Given the description of an element on the screen output the (x, y) to click on. 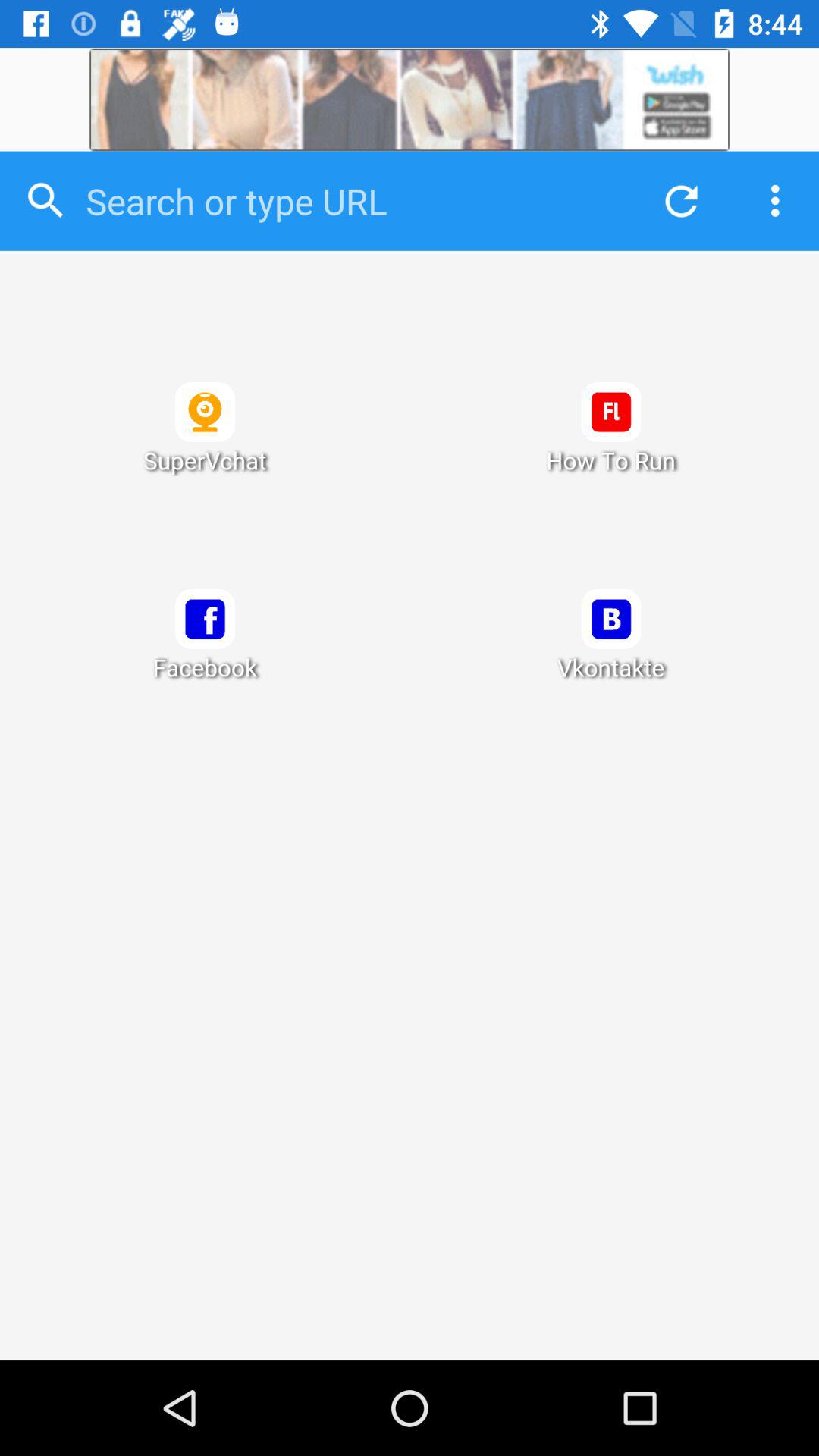
type in url (349, 200)
